Given the description of an element on the screen output the (x, y) to click on. 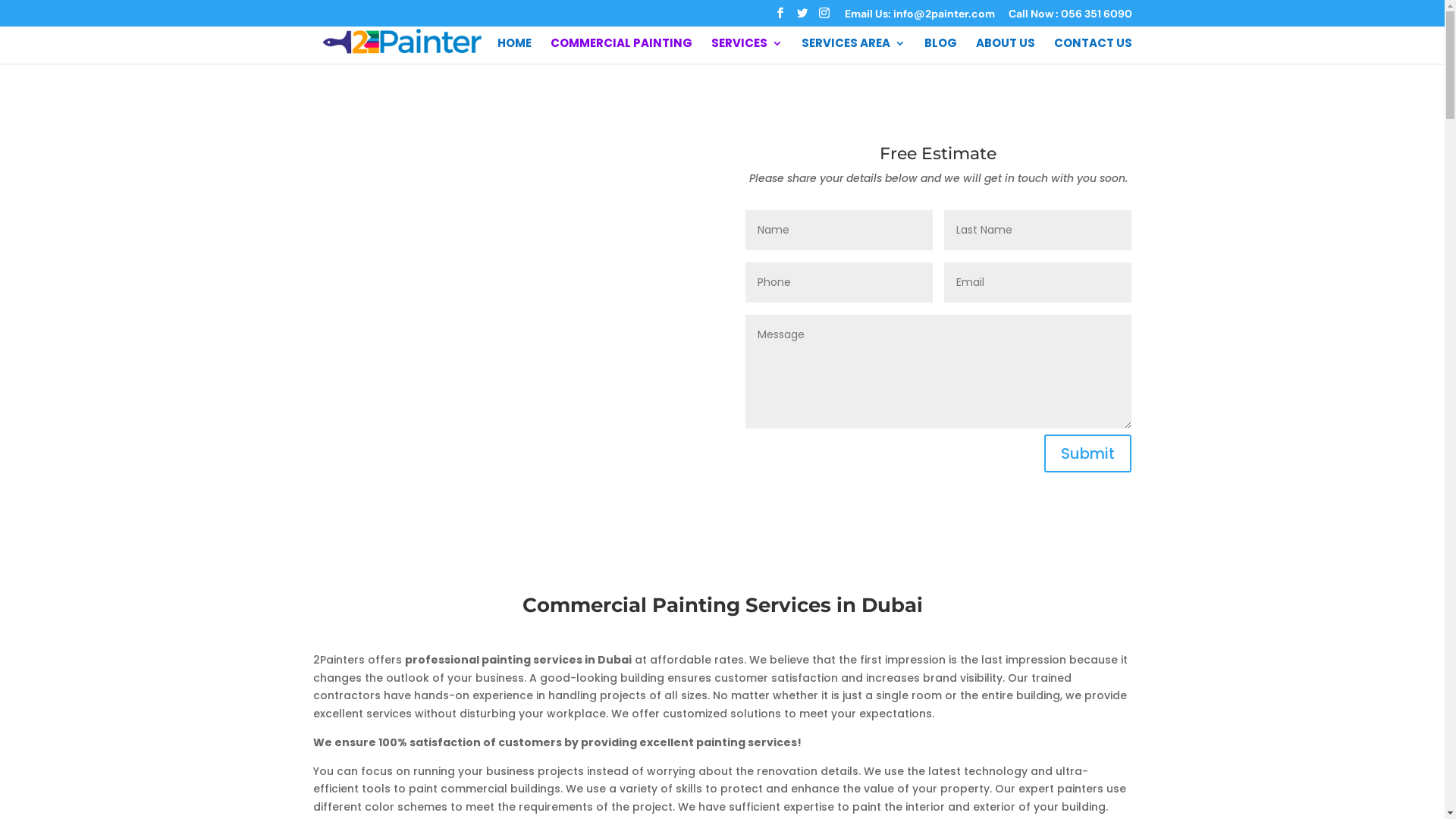
CONTACT US Element type: text (1093, 50)
HOME Element type: text (514, 50)
SERVICES AREA Element type: text (852, 50)
ABOUT US Element type: text (1004, 50)
COMMERCIAL PAINTING Element type: text (621, 50)
Call Now : 056 351 6090 Element type: text (1070, 16)
Email Us: info@2painter.com Element type: text (919, 16)
BLOG Element type: text (939, 50)
SERVICES Element type: text (746, 50)
Submit Element type: text (1087, 453)
